Given the description of an element on the screen output the (x, y) to click on. 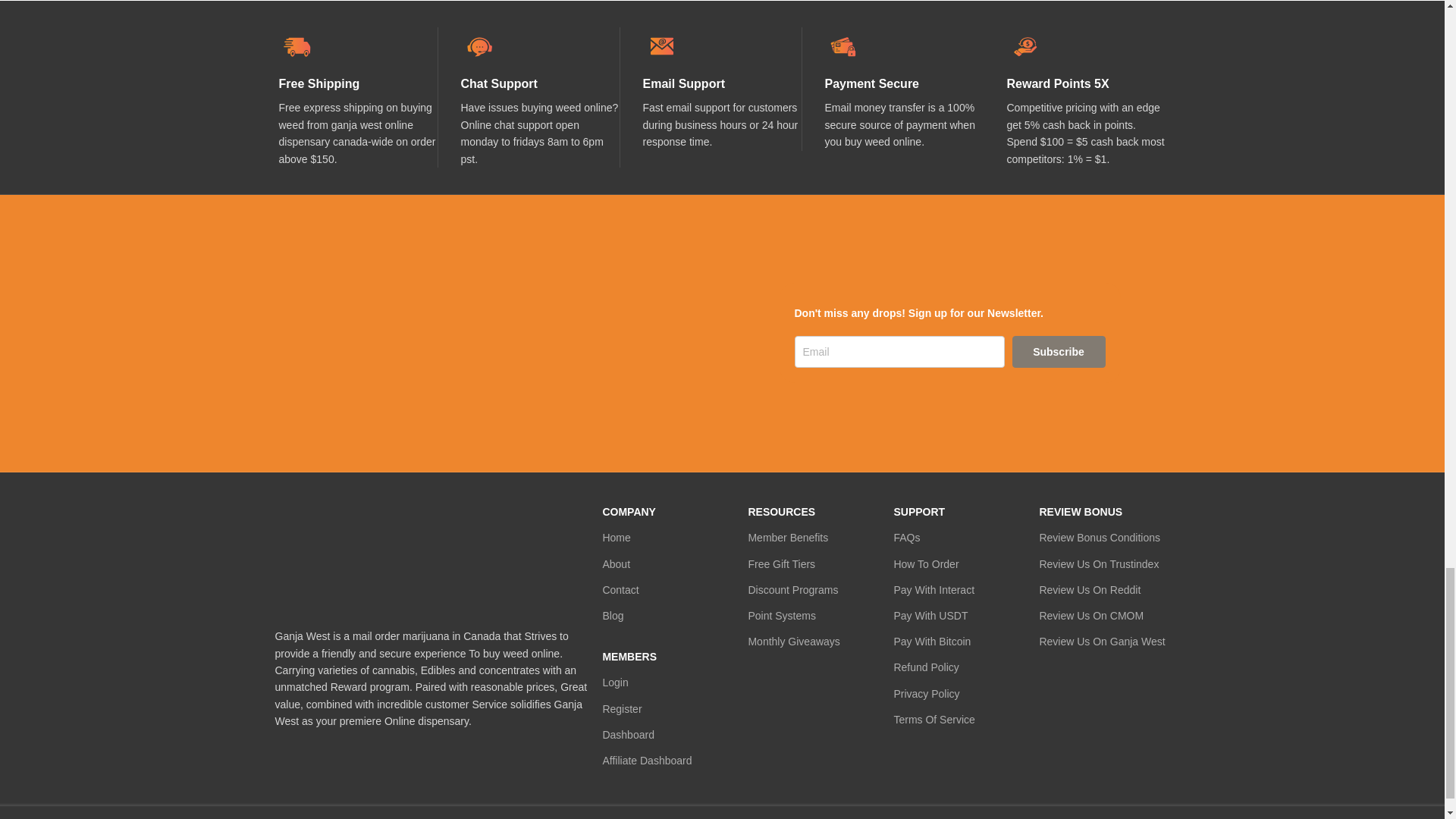
ftrlogo (430, 555)
